Given the description of an element on the screen output the (x, y) to click on. 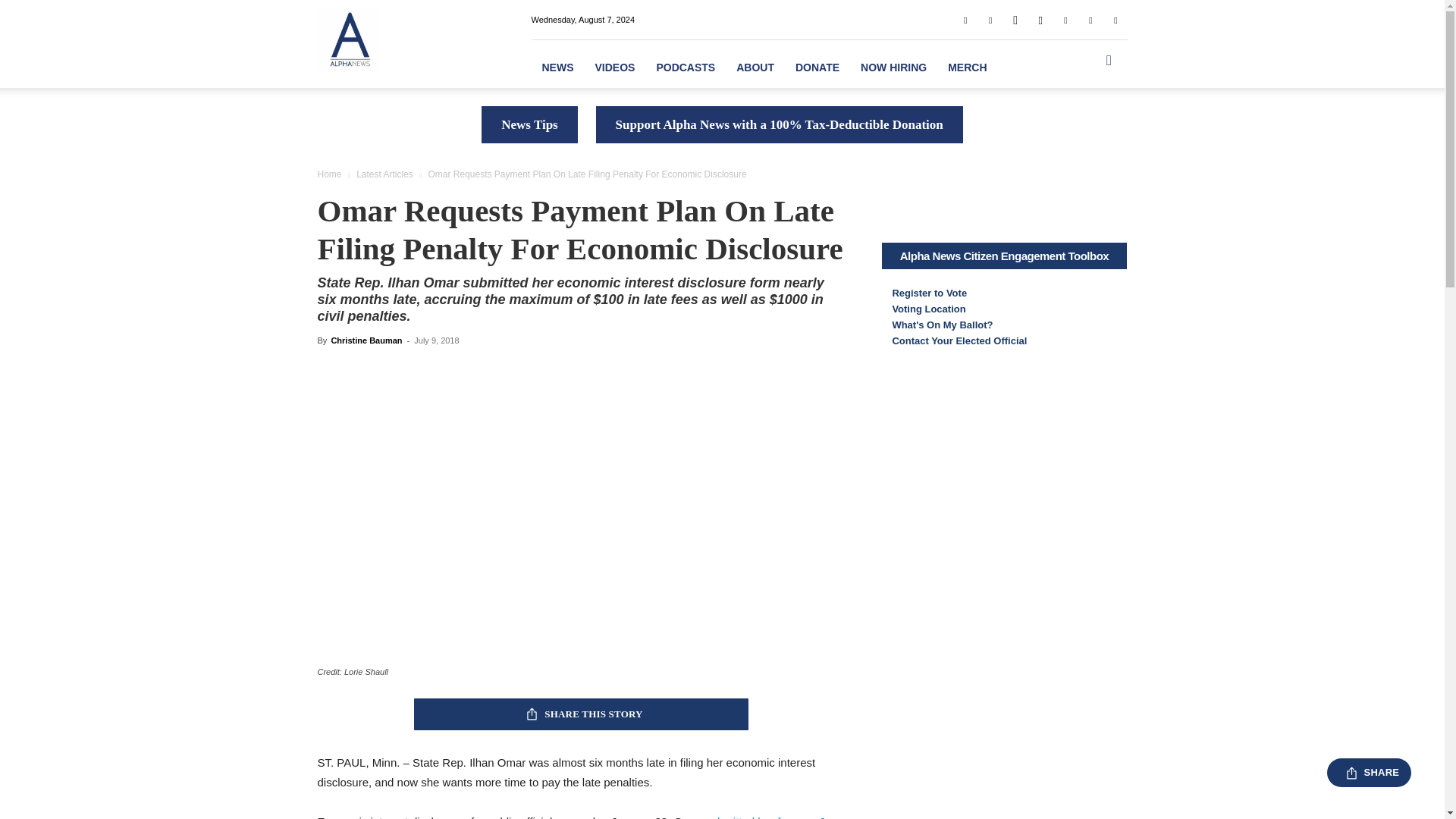
Facebook (964, 19)
Telegram (1065, 19)
Youtube (1114, 19)
Gab (989, 19)
Instagram (1040, 19)
Twitter (1090, 19)
NEWS (557, 67)
Alpha News (349, 39)
GETTR (1015, 19)
